Given the description of an element on the screen output the (x, y) to click on. 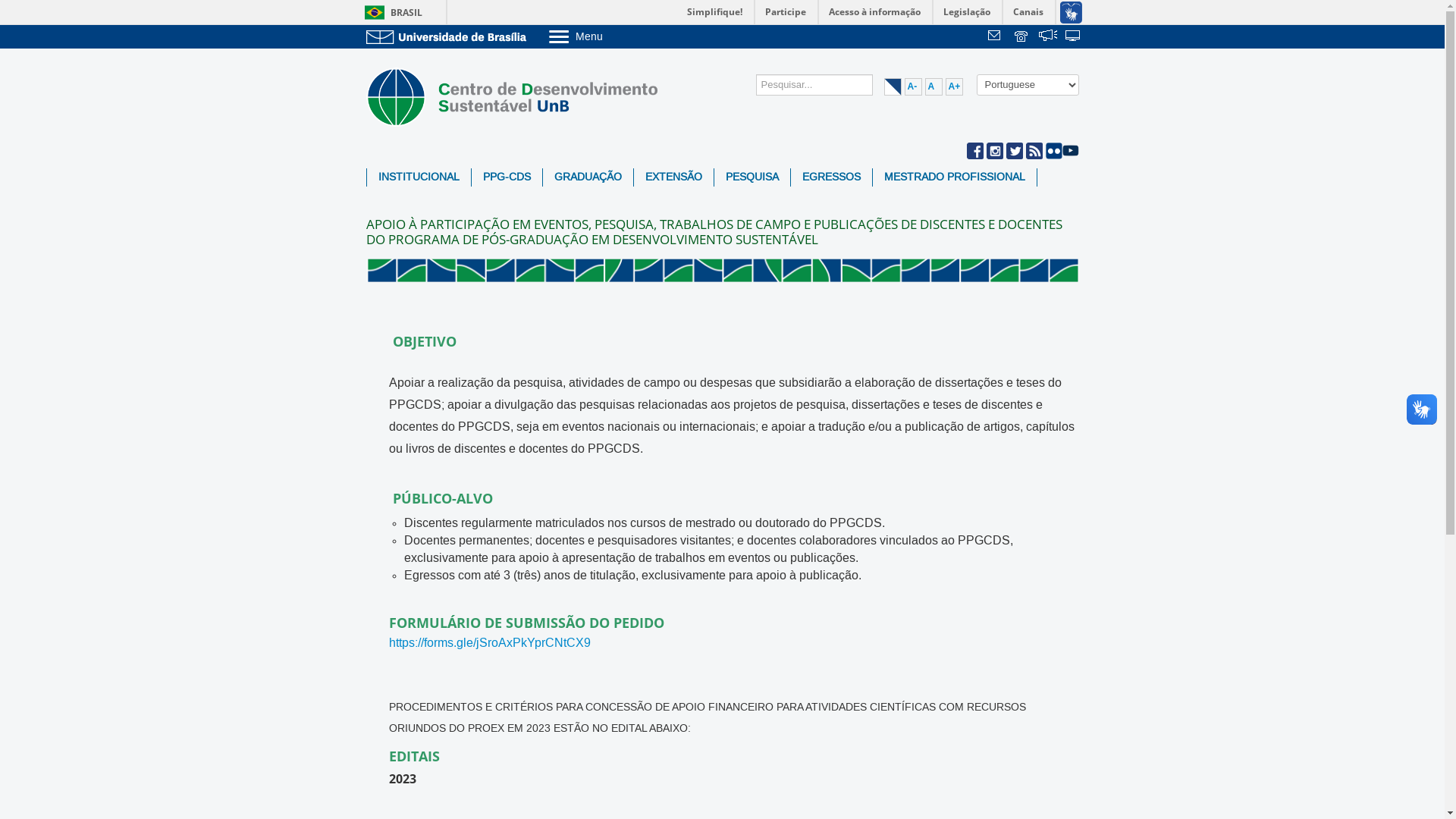
Webmail Element type: hover (996, 37)
  Element type: text (1073, 37)
  Element type: text (1047, 37)
BRASIL Element type: text (389, 12)
  Element type: text (1022, 37)
A- Element type: text (912, 86)
Fala.BR Element type: hover (1047, 37)
  Element type: text (996, 37)
Ir para o Portal da UnB Element type: hover (448, 36)
https://forms.gle/jSroAxPkYprCNtCX9 Element type: text (488, 642)
Menu Element type: text (613, 35)
Sistemas Element type: hover (1073, 37)
A+ Element type: text (953, 86)
A Element type: text (933, 86)
Telefones da UnB Element type: hover (1022, 37)
